Given the description of an element on the screen output the (x, y) to click on. 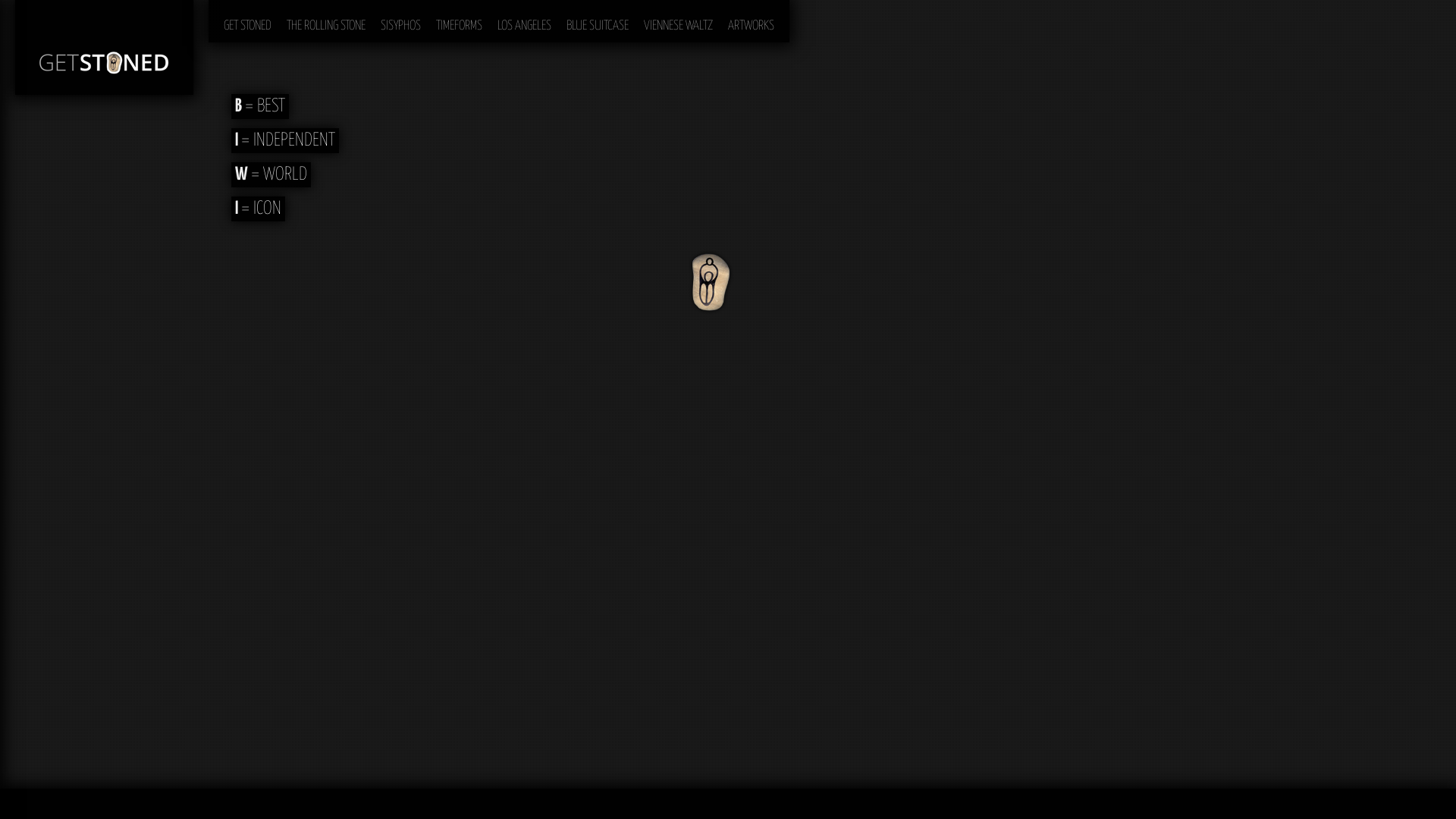
LOS ANGELES Element type: text (524, 21)
SISYPHOS Element type: text (400, 21)
THE ROLLING STONE Element type: text (325, 21)
TIMEFORMS Element type: text (459, 21)
ARTWORKS Element type: text (751, 21)
GET STONED Element type: text (247, 21)
VIENNESE WALTZ Element type: text (677, 21)
Skip to content Element type: text (243, 7)
CONTACT Element type: text (1391, 803)
BLUE SUITCASE Element type: text (597, 21)
Main menu Element type: text (234, 7)
GUESTBOOK Element type: text (1338, 803)
GETSTONED.cc // The official Website of Hans BIWI Lechner Element type: hover (104, 47)
facebook Element type: hover (1429, 802)
